Given the description of an element on the screen output the (x, y) to click on. 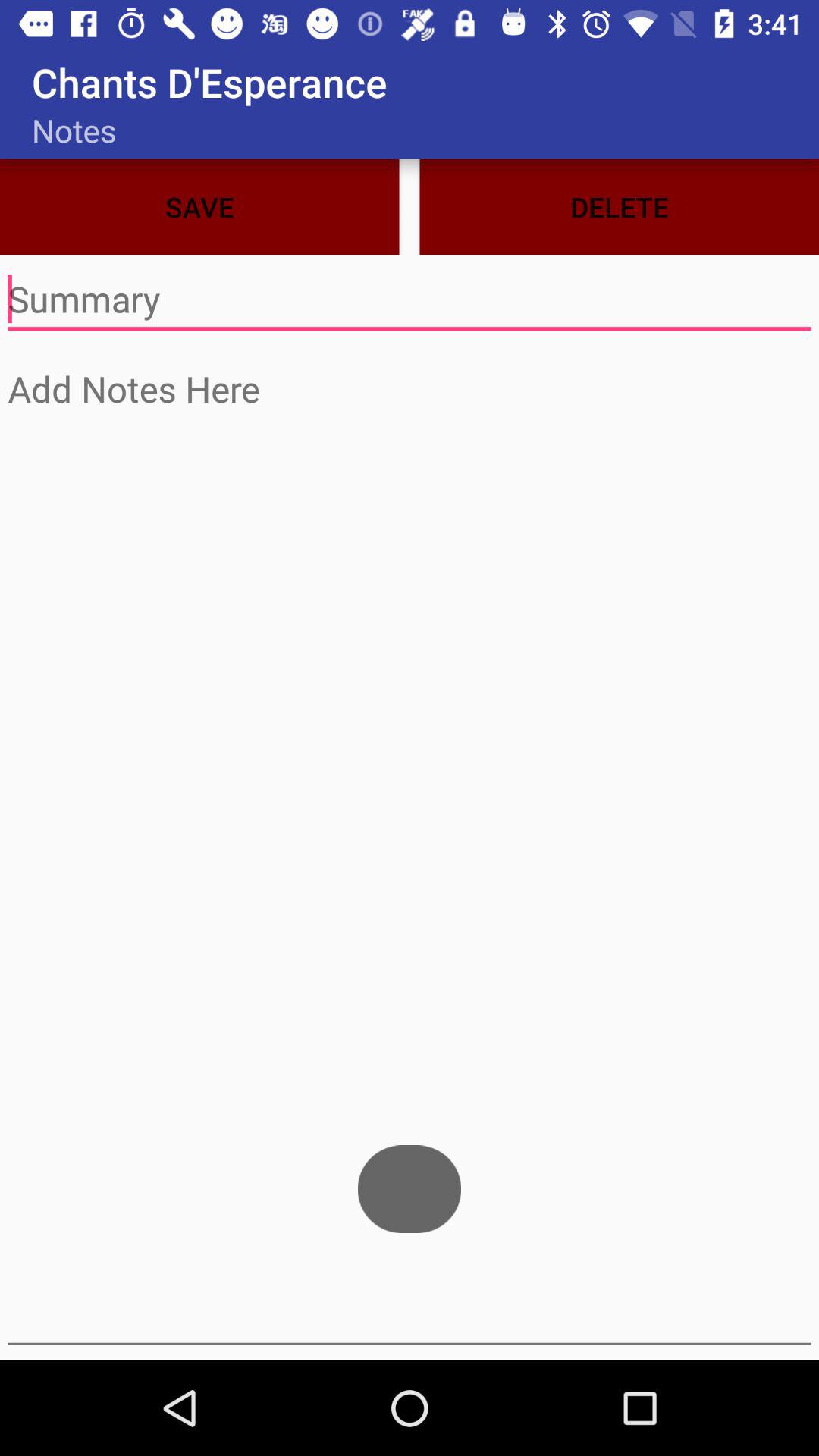
comment box (409, 299)
